Given the description of an element on the screen output the (x, y) to click on. 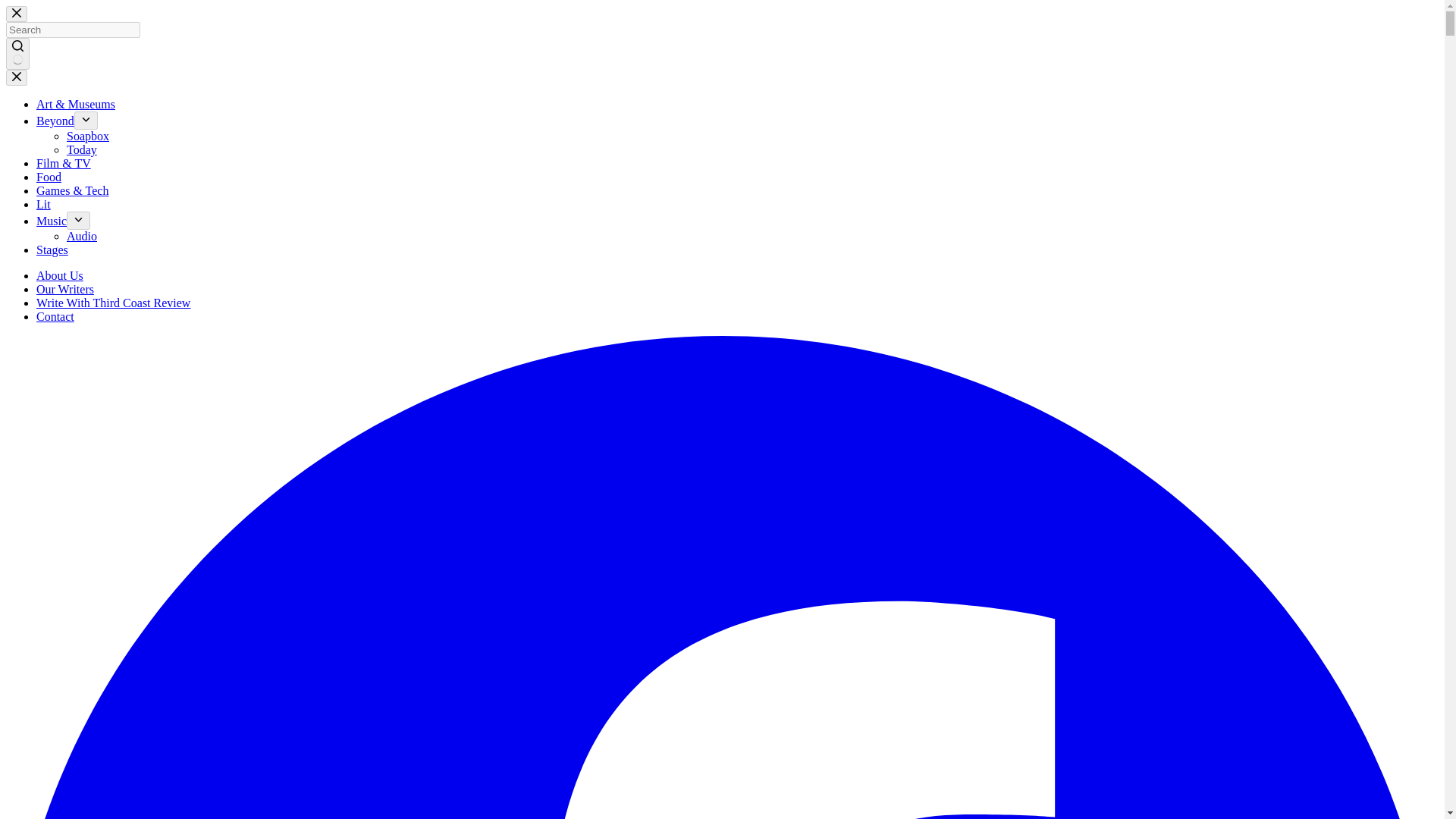
Contact (55, 316)
Audio (81, 236)
Soapbox (87, 135)
Write With Third Coast Review (113, 302)
Stages (52, 249)
About Us (59, 275)
Our Writers (65, 288)
Lit (43, 204)
Beyond (55, 120)
Today (81, 149)
